Given the description of an element on the screen output the (x, y) to click on. 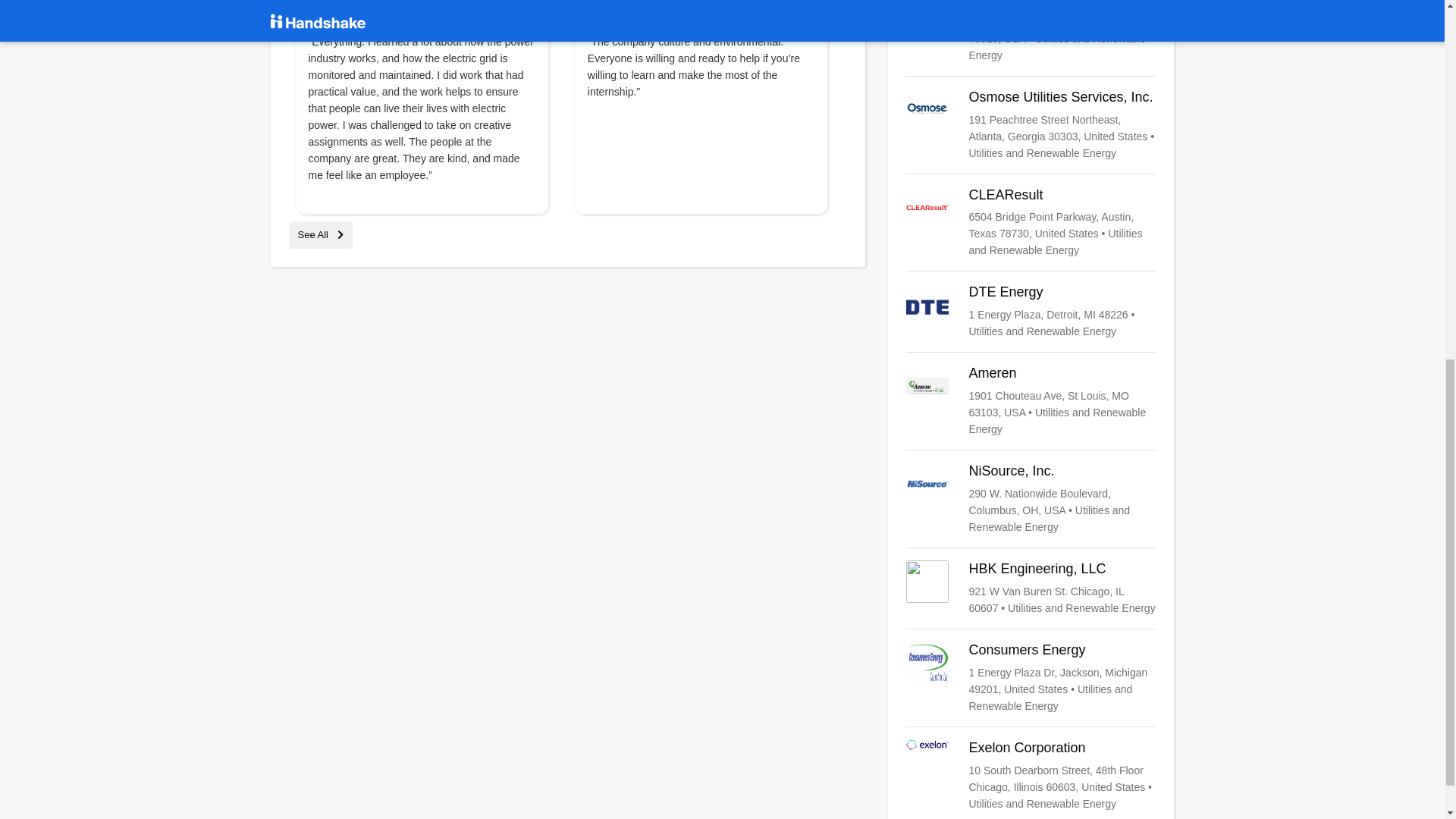
Ameren (1030, 400)
HBK Engineering, LLC (1030, 588)
DTE Energy (1030, 311)
Osmose Utilities Services, Inc. (1030, 124)
CLEAResult (1030, 222)
See All (320, 234)
Consumers Energy (1030, 677)
Exelon Corporation (1030, 775)
Lansing Board of Water and Light (1030, 31)
NiSource, Inc. (1030, 498)
